Given the description of an element on the screen output the (x, y) to click on. 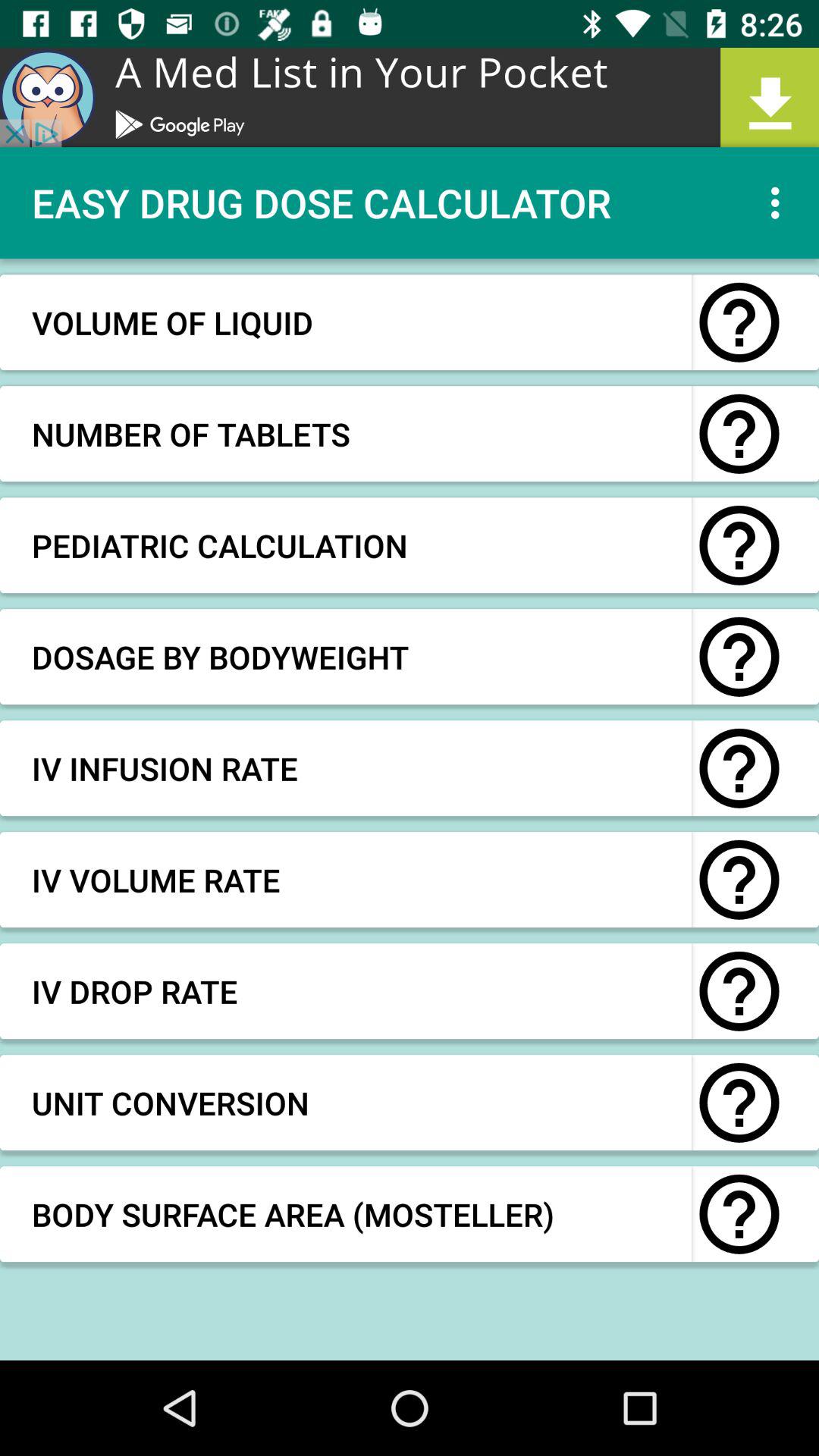
more information (739, 1214)
